Given the description of an element on the screen output the (x, y) to click on. 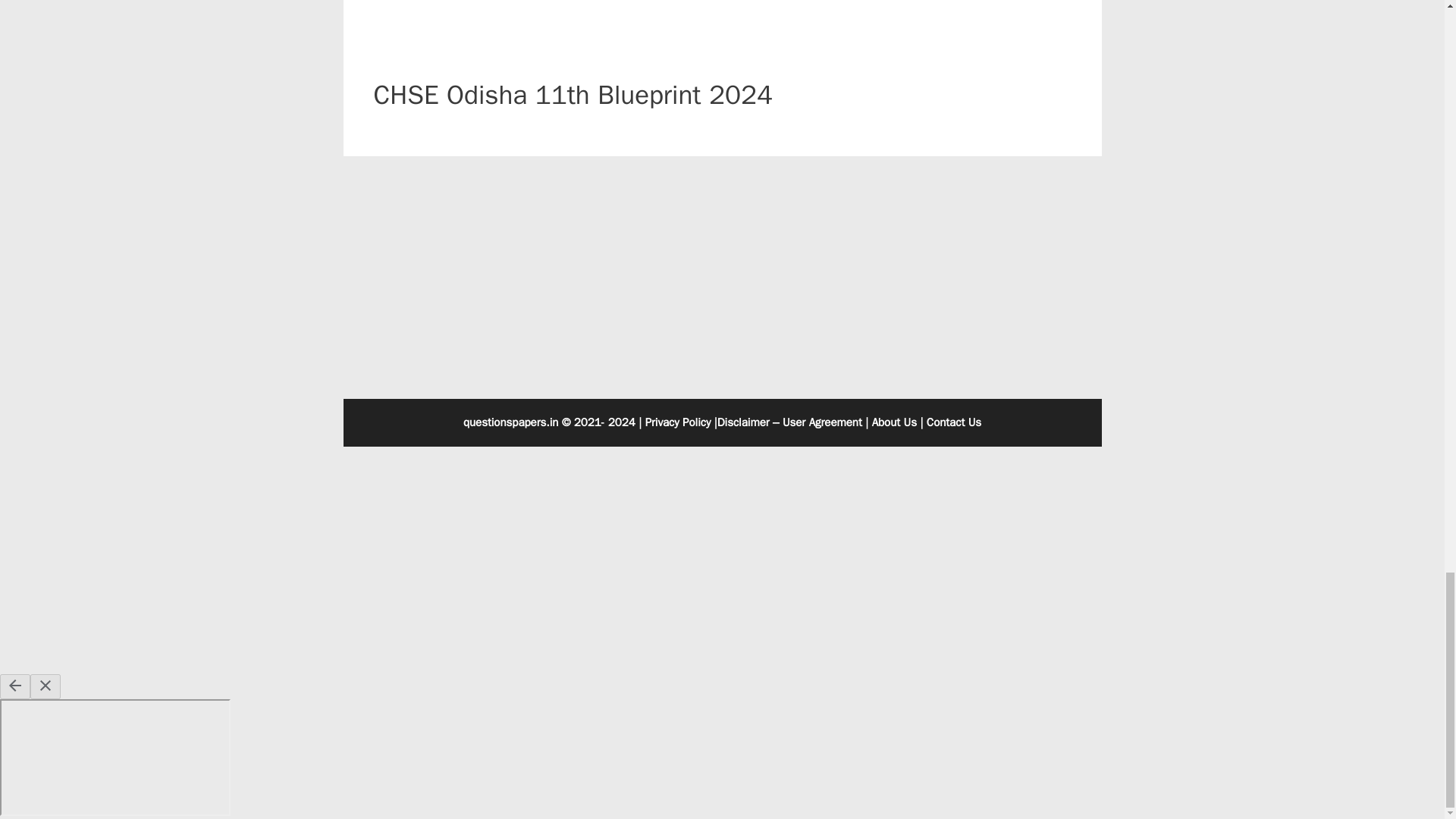
Privacy Policy (678, 422)
Advertisement (736, 39)
Contact Us (953, 422)
About Us (894, 422)
